Given the description of an element on the screen output the (x, y) to click on. 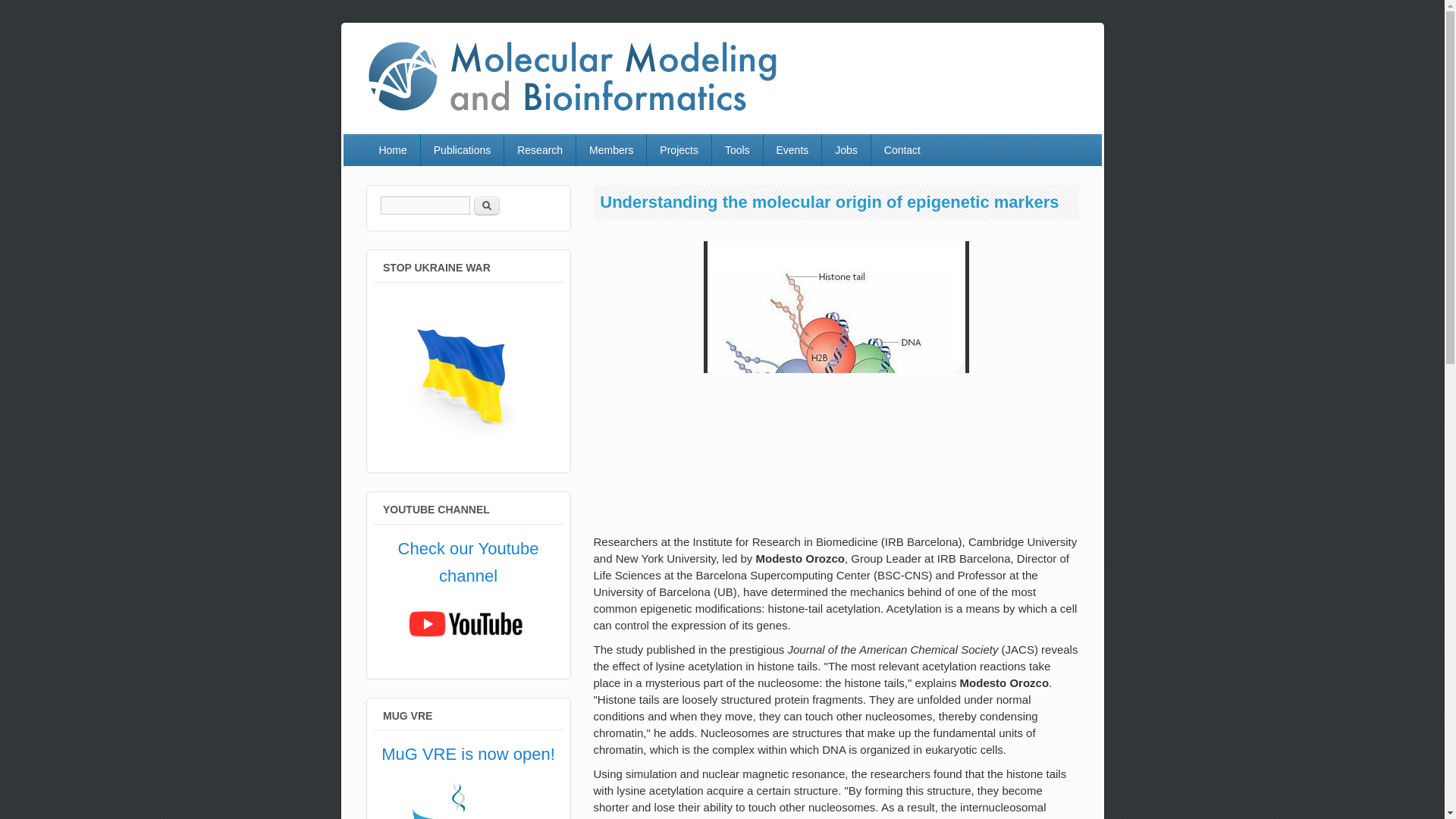
Check our Youtube channel (467, 561)
Projects (678, 150)
Publications (461, 150)
Research (539, 150)
MuG VRE is now open! (467, 753)
Enter the terms you wish to search for. (425, 205)
Home (392, 150)
Events (792, 150)
Members (611, 150)
Home (569, 113)
